Given the description of an element on the screen output the (x, y) to click on. 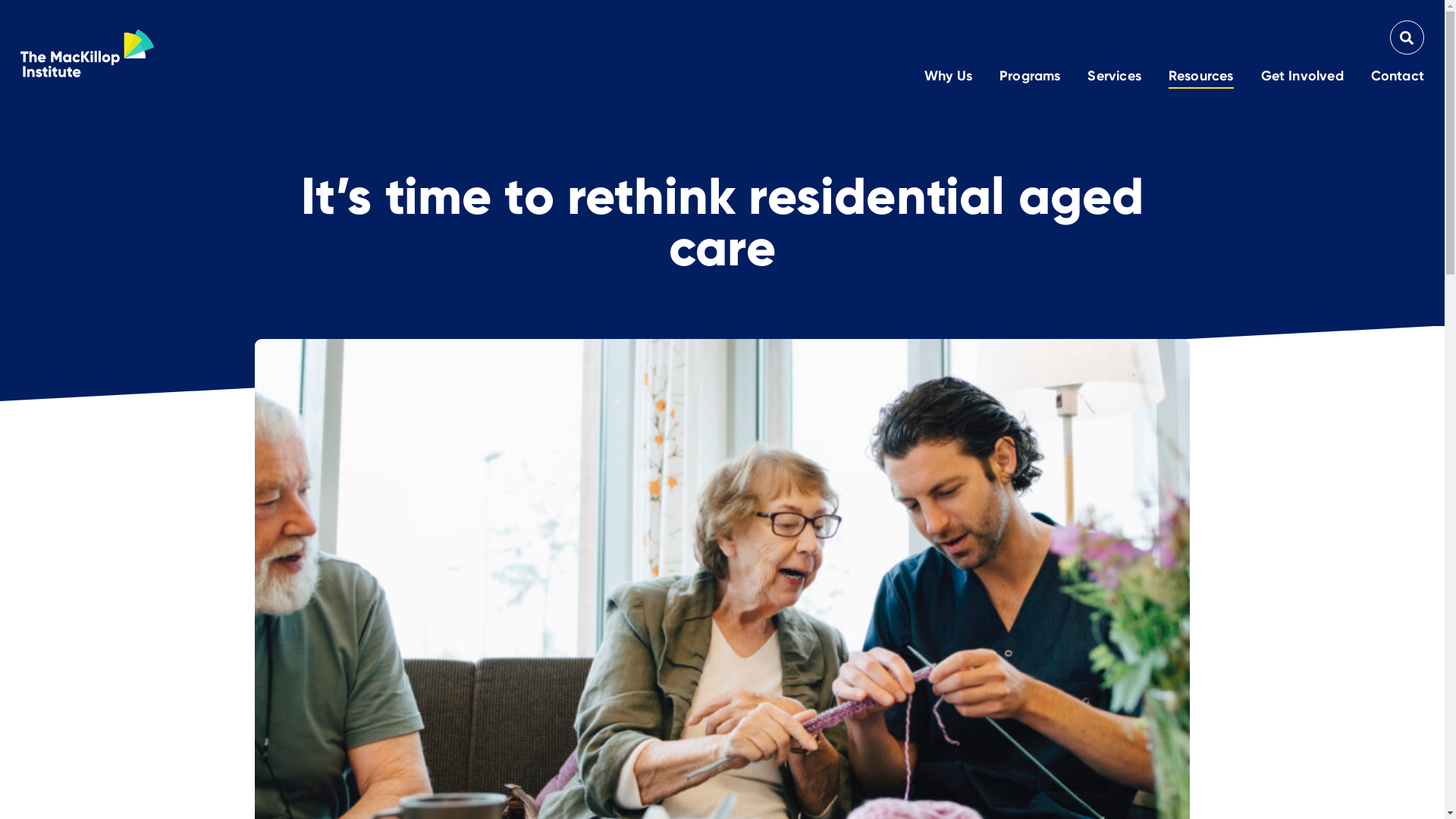
Programs Element type: text (1029, 76)
Services Element type: text (1113, 76)
Contact Element type: text (1397, 76)
Get Involved Element type: text (1302, 76)
Resources Element type: text (1200, 77)
Why Us Element type: text (948, 76)
